Given the description of an element on the screen output the (x, y) to click on. 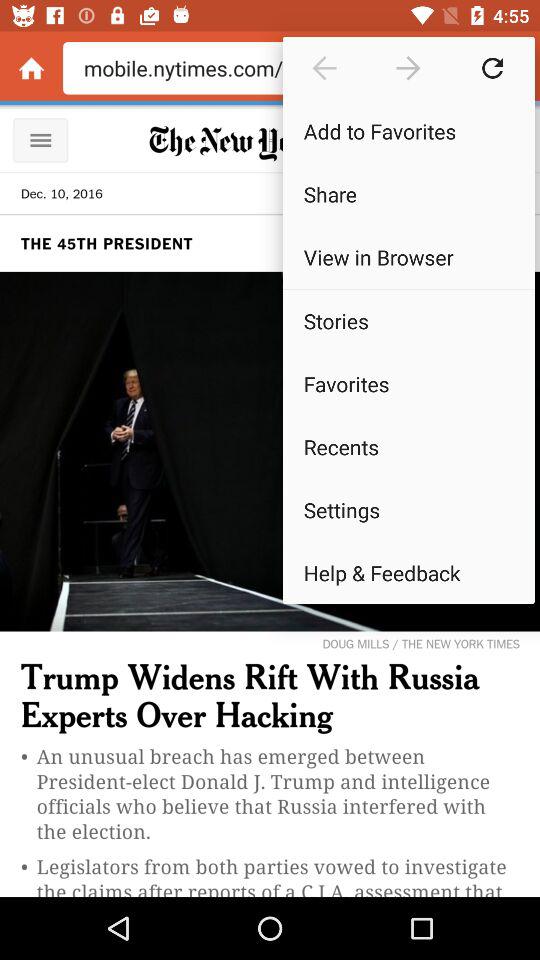
go back (324, 67)
